Given the description of an element on the screen output the (x, y) to click on. 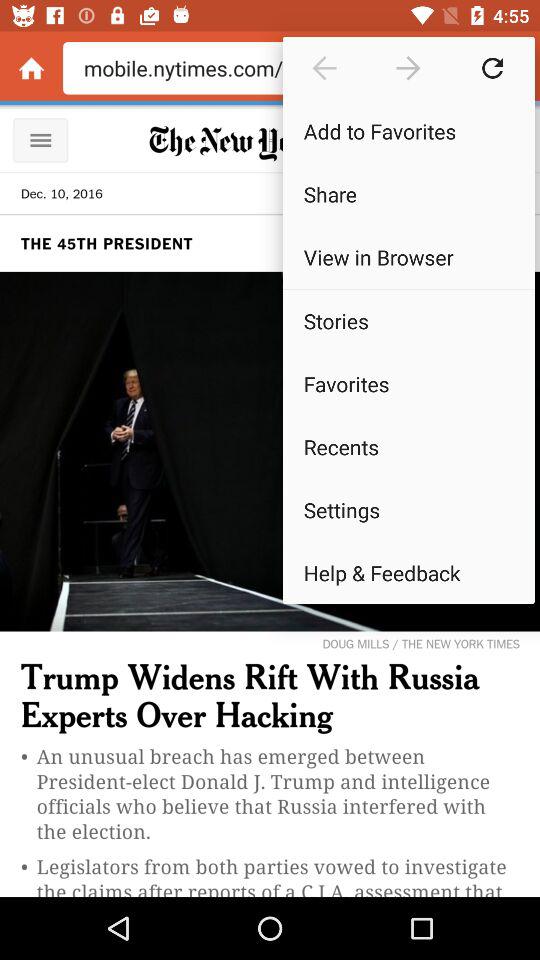
go back (324, 67)
